Given the description of an element on the screen output the (x, y) to click on. 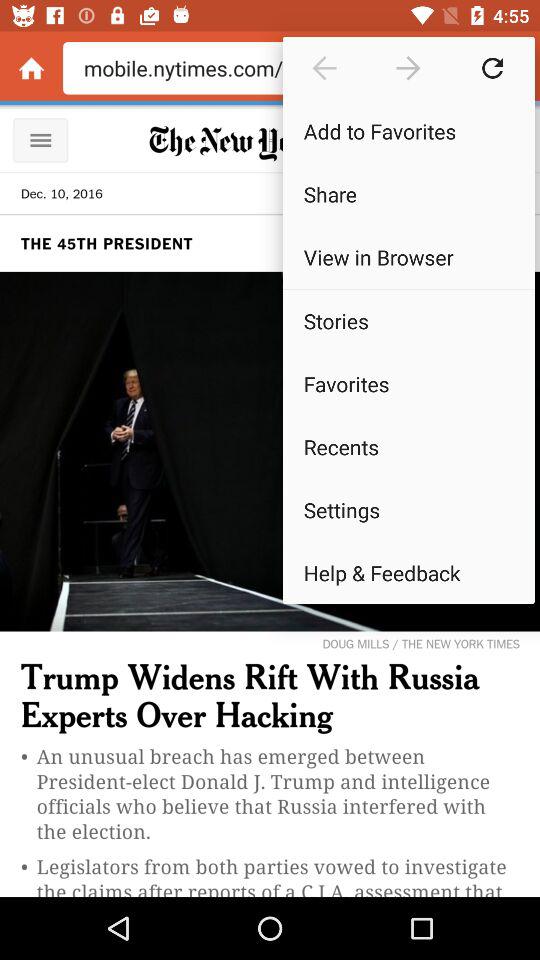
go back (324, 67)
